Given the description of an element on the screen output the (x, y) to click on. 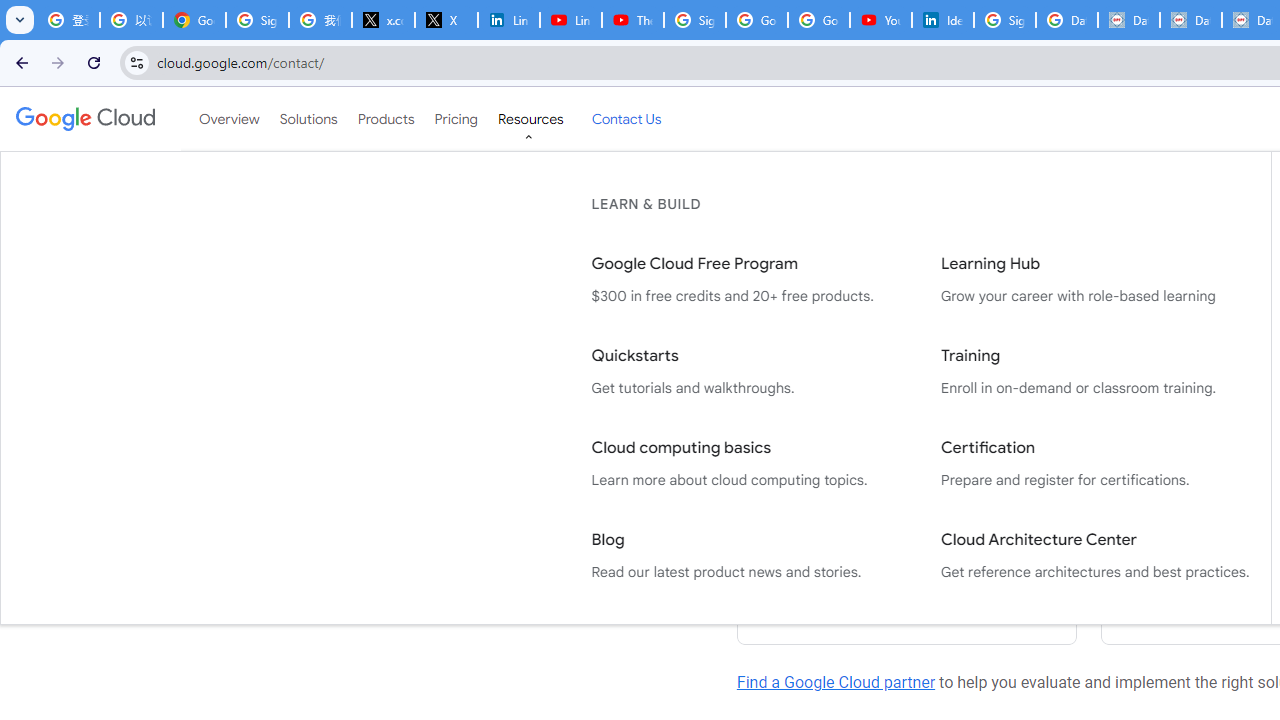
Contact Us (626, 119)
Find a Google Cloud partner (835, 682)
Data Privacy Framework (1128, 20)
Sign in - Google Accounts (257, 20)
Data Privacy Framework (1190, 20)
Identity verification via Persona | LinkedIn Help (942, 20)
